Given the description of an element on the screen output the (x, y) to click on. 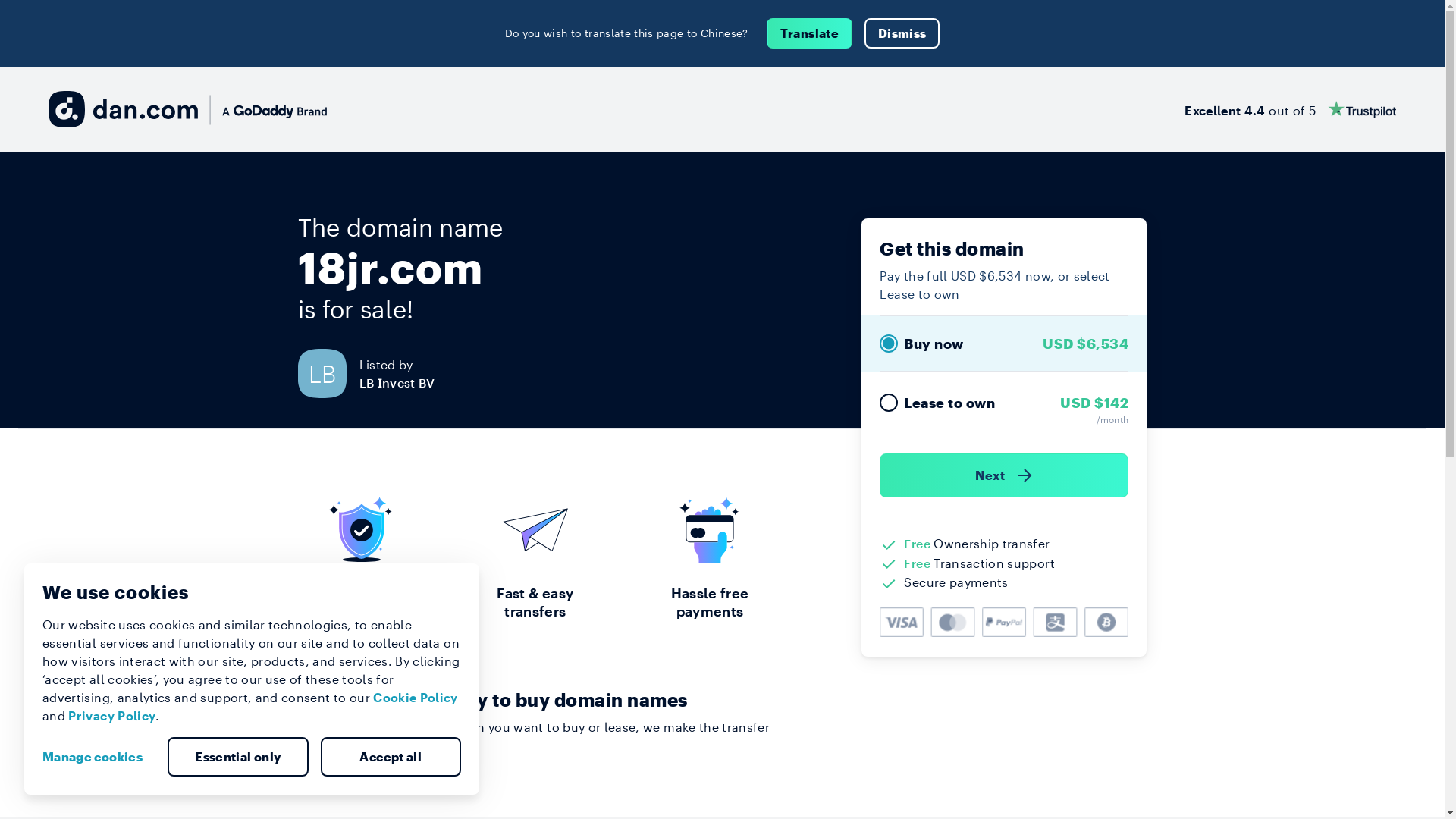
Next
) Element type: text (1003, 475)
LB Element type: text (327, 373)
Privacy Policy Element type: text (111, 715)
Essential only Element type: text (237, 756)
Translate Element type: text (809, 33)
Excellent 4.4 out of 5 Element type: text (1290, 109)
Accept all Element type: text (390, 756)
Manage cookies Element type: text (98, 756)
Cookie Policy Element type: text (415, 697)
Dismiss Element type: text (901, 33)
